Given the description of an element on the screen output the (x, y) to click on. 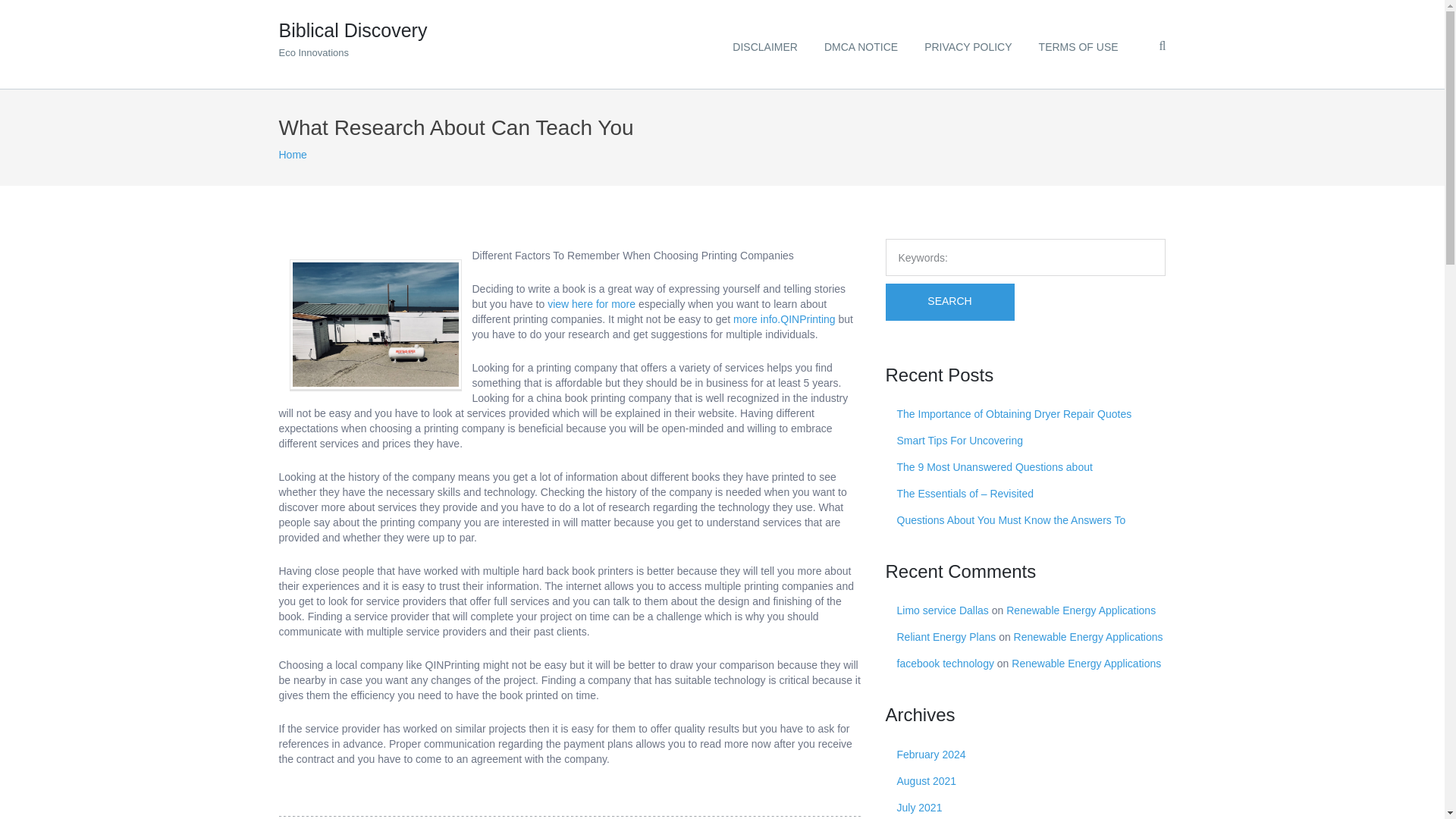
Renewable Energy Applications (1088, 636)
Limo service Dallas (942, 610)
Renewable Energy Applications (1081, 610)
Search for: (1025, 257)
Questions About You Must Know the Answers To (1010, 520)
Smart Tips For Uncovering (959, 440)
The Importance of Obtaining Dryer Repair Quotes (1013, 413)
more info.QINPrinting (784, 318)
Biblical Discovery (353, 34)
TERMS OF USE (1078, 44)
SEARCH (353, 34)
Biblical Discovery (949, 302)
Home (293, 154)
February 2024 (293, 154)
